Given the description of an element on the screen output the (x, y) to click on. 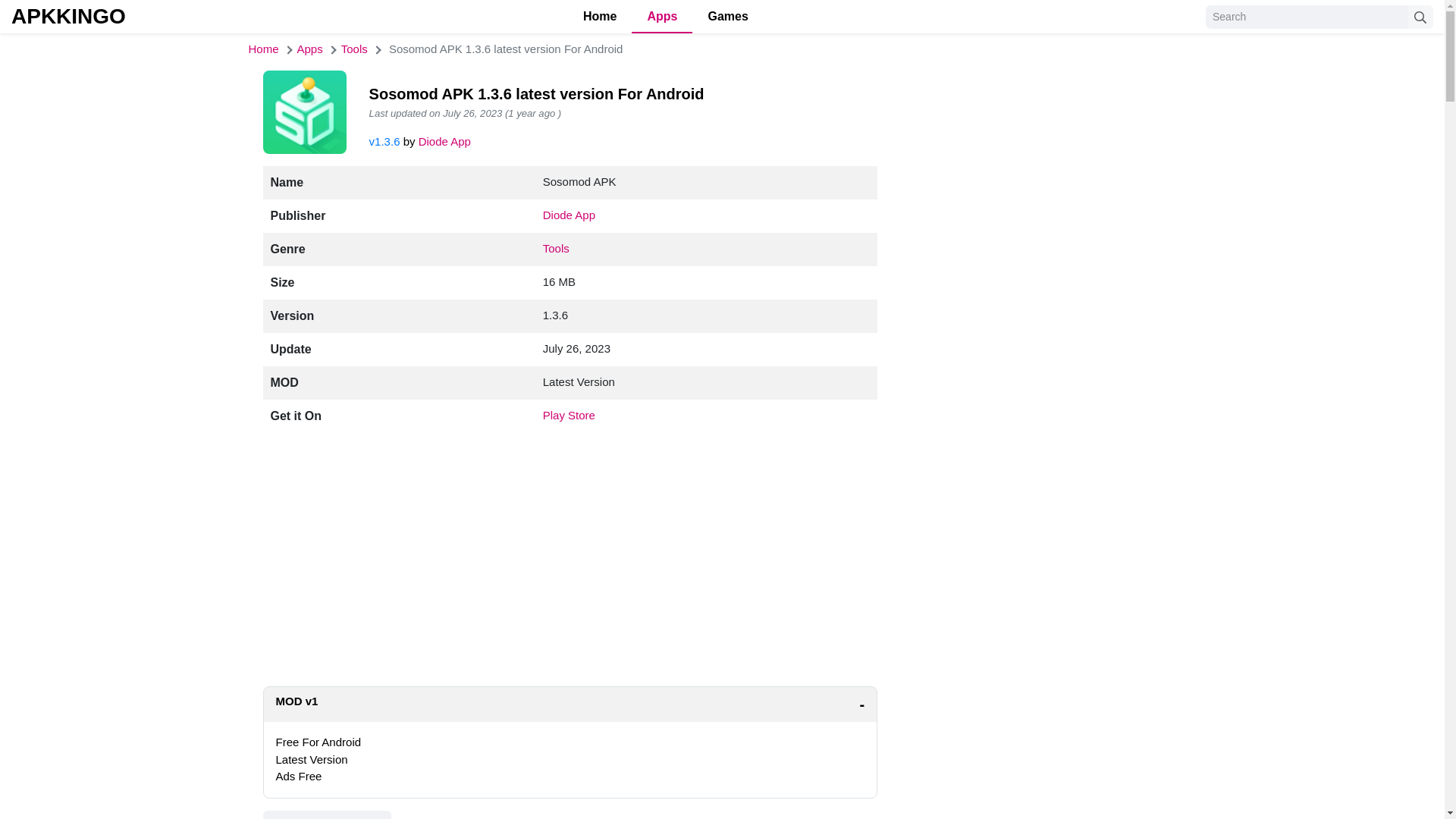
Games (727, 16)
Diode App (444, 141)
Home (599, 16)
Developer by Diode App (569, 214)
APKKINGO (68, 15)
MOD v1 (570, 704)
Home (263, 48)
Apps (310, 48)
Diode App (569, 214)
Explore this article (326, 814)
